Given the description of an element on the screen output the (x, y) to click on. 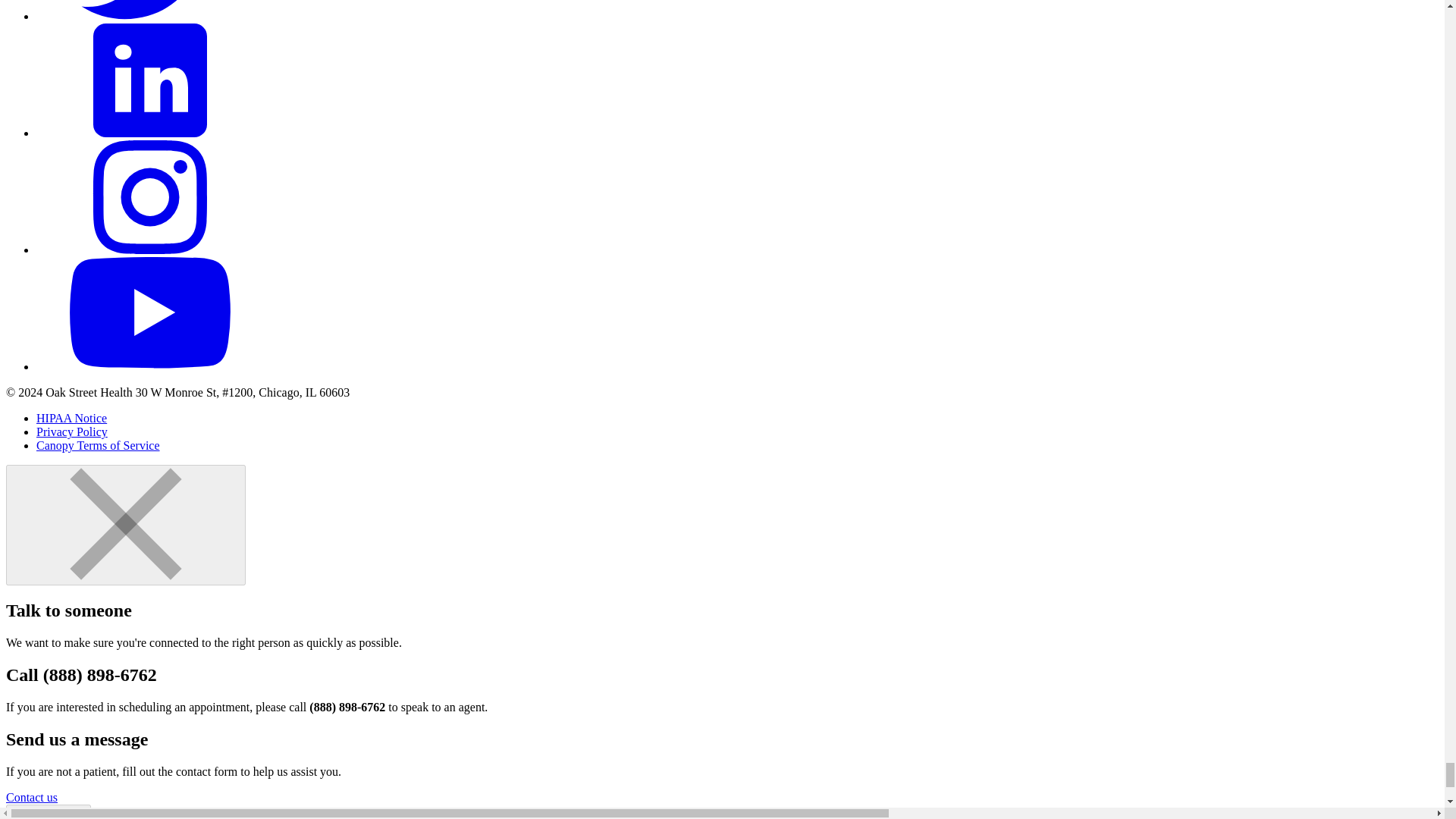
Twitter (149, 15)
LinkedIn (149, 132)
YouTube (149, 366)
Instagram (149, 249)
